Given the description of an element on the screen output the (x, y) to click on. 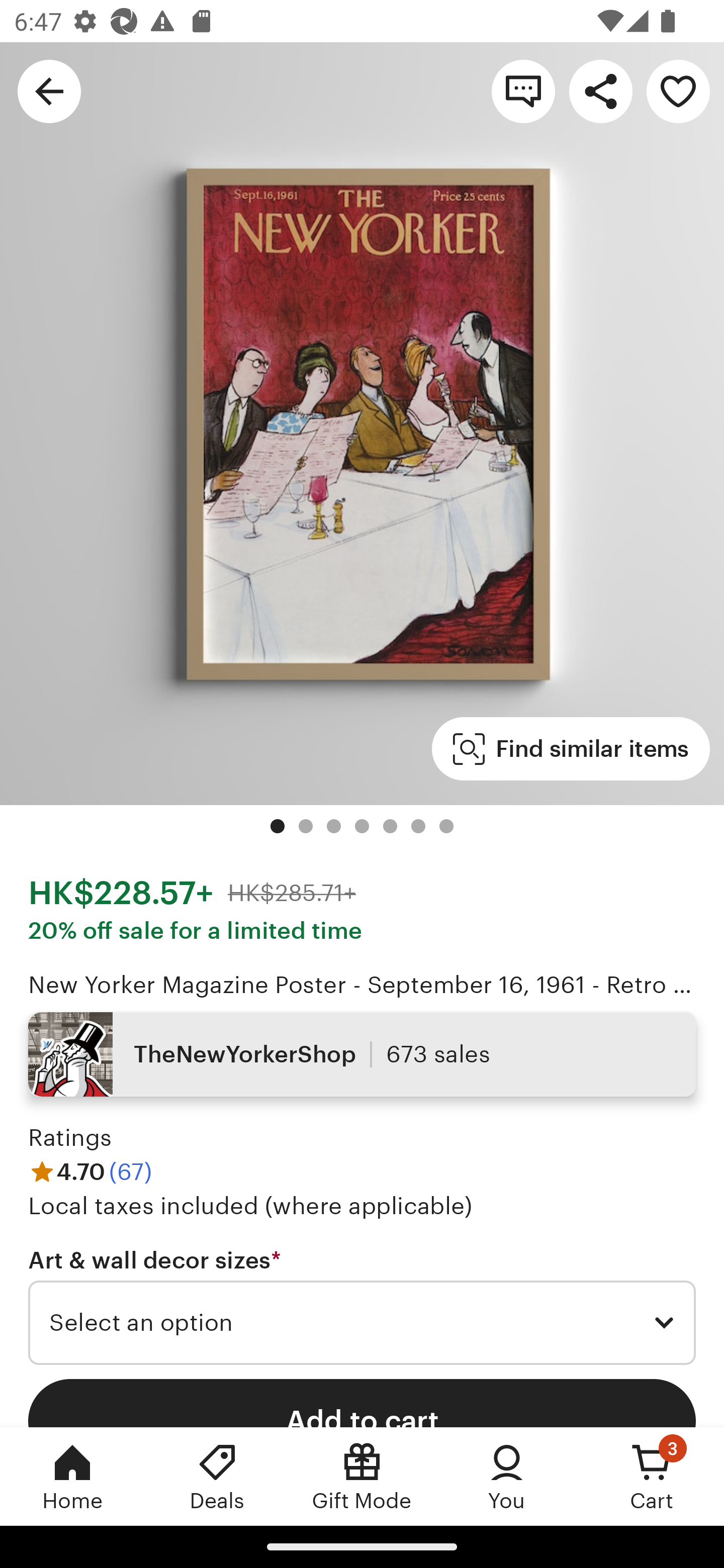
Navigate up (49, 90)
Contact shop (523, 90)
Share (600, 90)
Find similar items (571, 748)
TheNewYorkerShop 673 sales (361, 1054)
Ratings (70, 1137)
4.70 (67) (90, 1171)
Art & wall decor sizes * Required Select an option (361, 1306)
Select an option (361, 1323)
Deals (216, 1475)
Gift Mode (361, 1475)
You (506, 1475)
Cart, 3 new notifications Cart (651, 1475)
